Given the description of an element on the screen output the (x, y) to click on. 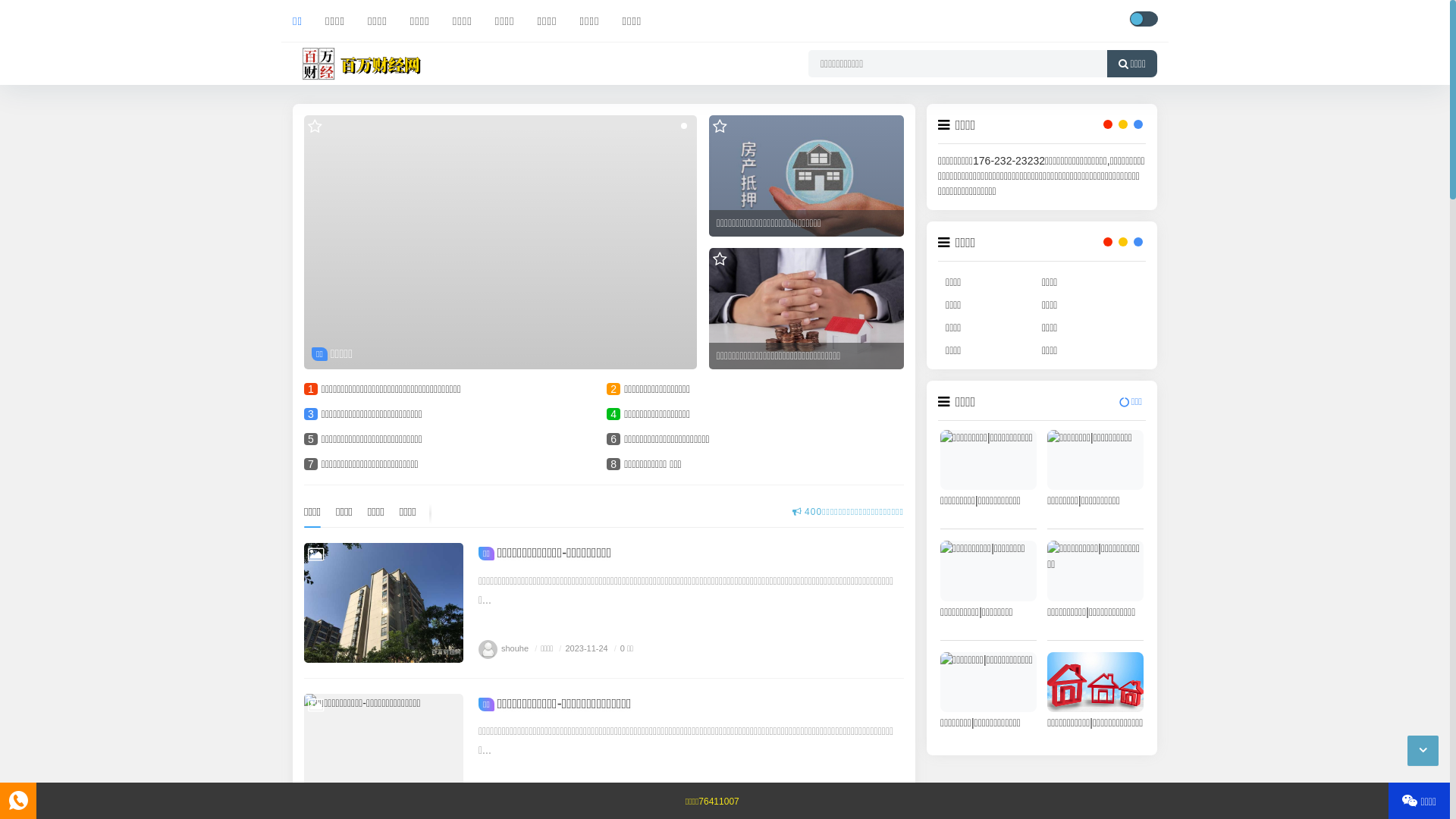
shouhe Element type: text (503, 647)
fengjiao Element type: text (504, 798)
